Given the description of an element on the screen output the (x, y) to click on. 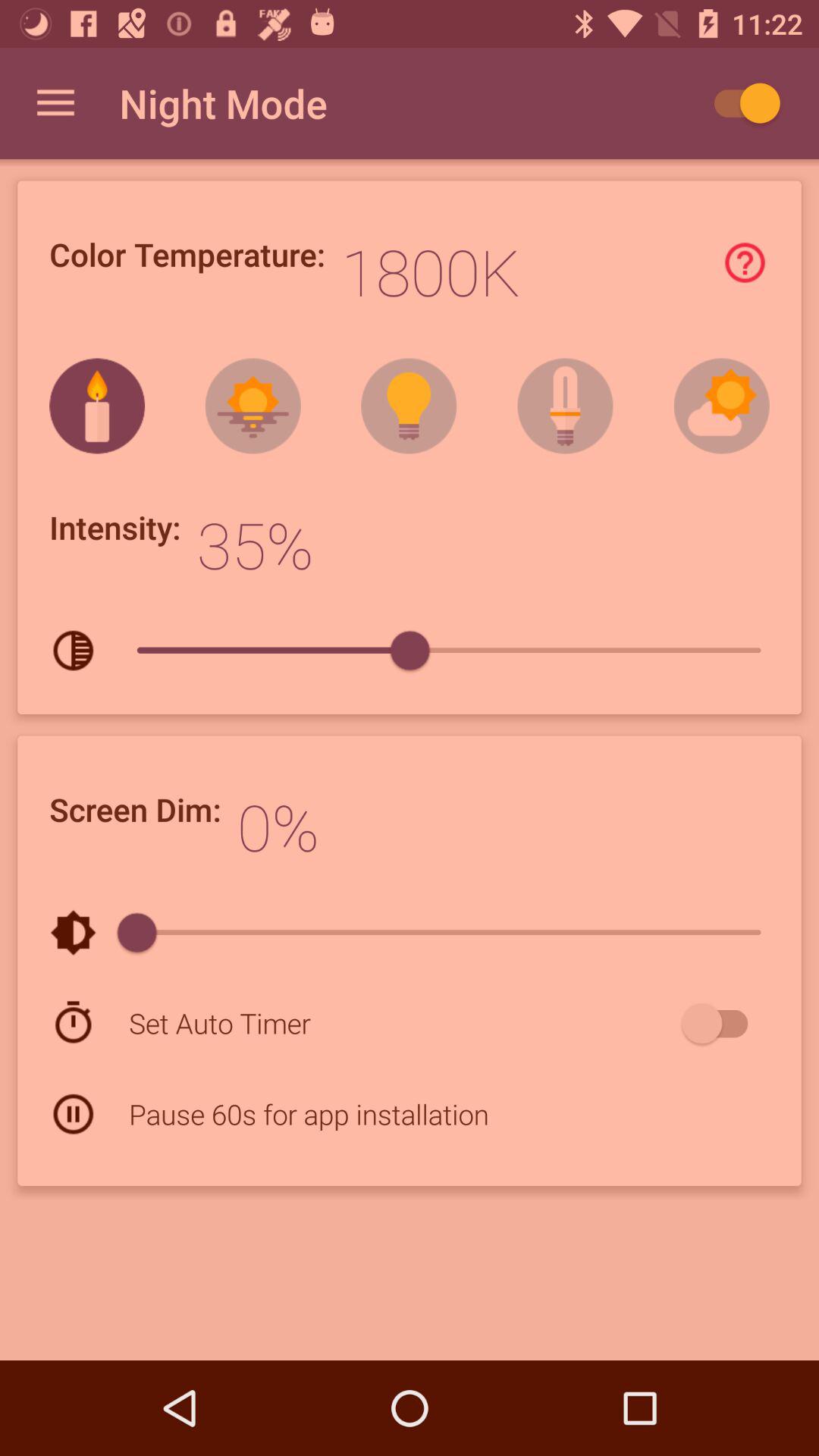
toggle nightmode (739, 103)
